Given the description of an element on the screen output the (x, y) to click on. 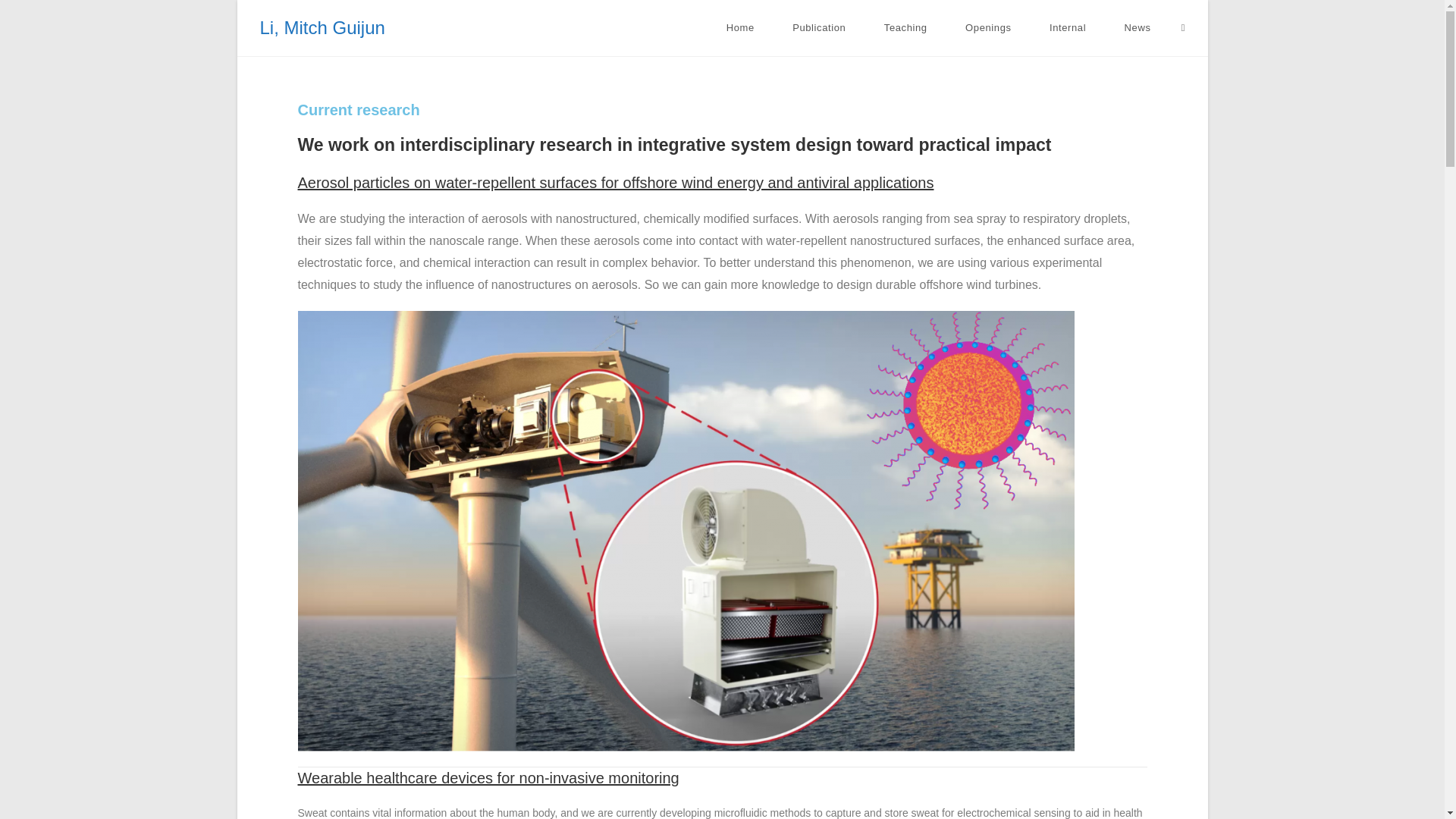
News (1137, 28)
Li, Mitch Guijun (321, 27)
Home (739, 28)
Teaching (905, 28)
Openings (988, 28)
Publication (818, 28)
Internal (1067, 28)
